Given the description of an element on the screen output the (x, y) to click on. 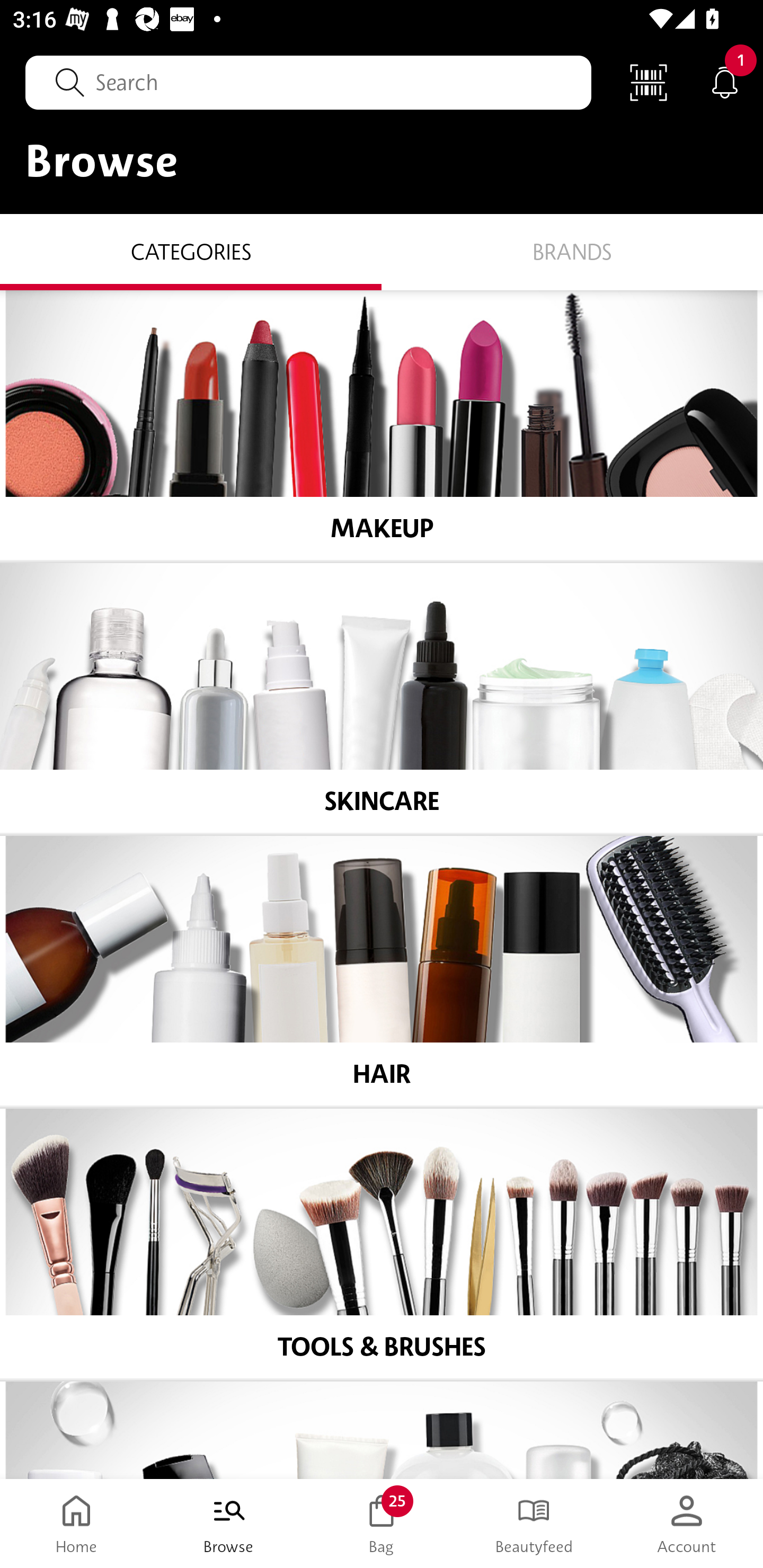
Scan Code (648, 81)
Notifications (724, 81)
Search (308, 81)
Brands BRANDS (572, 251)
MAKEUP (381, 425)
SKINCARE (381, 698)
HAIR (381, 971)
TOOLS & BRUSHES (381, 1243)
Home (76, 1523)
Bag 25 Bag (381, 1523)
Beautyfeed (533, 1523)
Account (686, 1523)
